Given the description of an element on the screen output the (x, y) to click on. 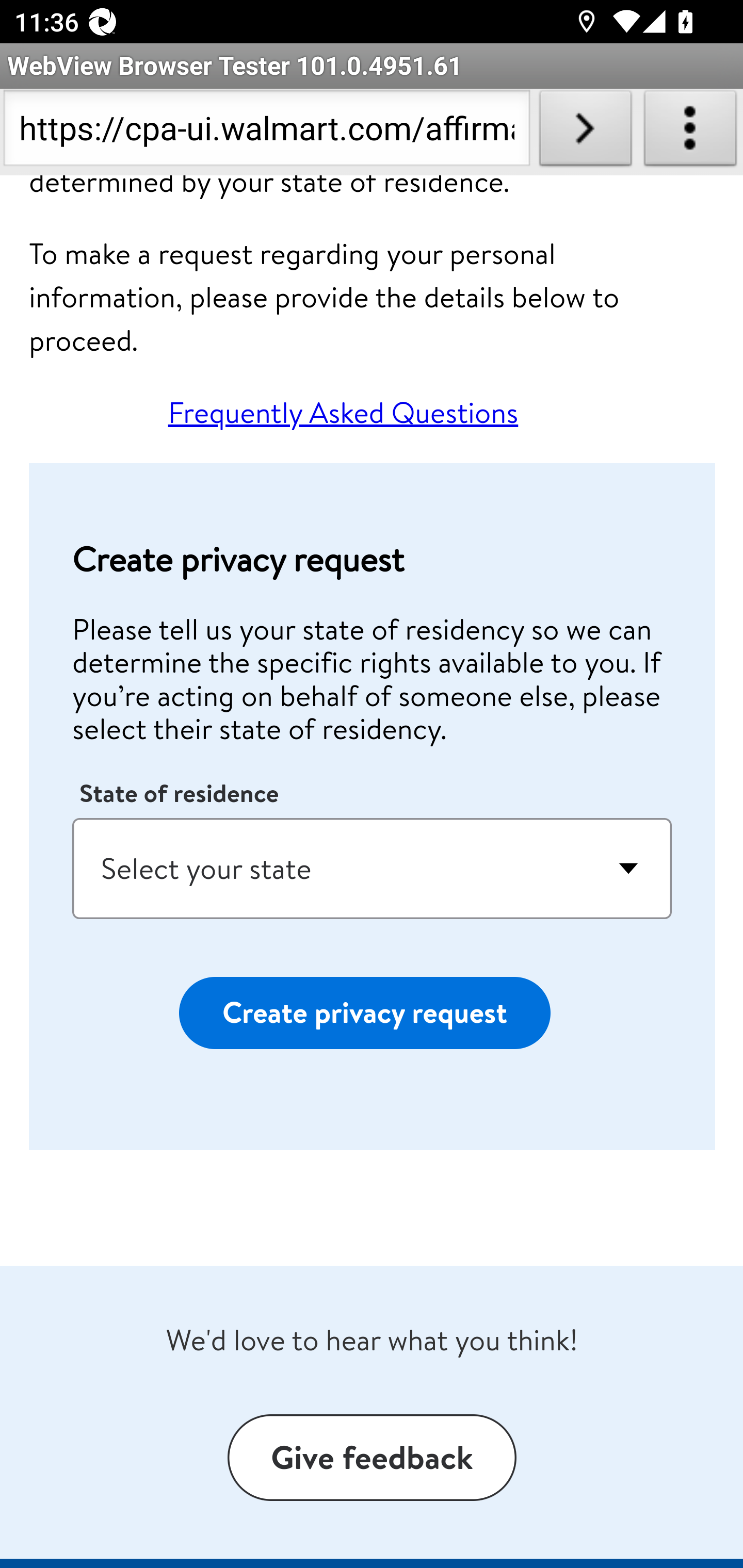
Load URL (585, 132)
About WebView (690, 132)
Frequently Asked Questions (343, 413)
Select your state (372, 869)
Create privacy request (364, 1013)
Give feedback (371, 1458)
